Given the description of an element on the screen output the (x, y) to click on. 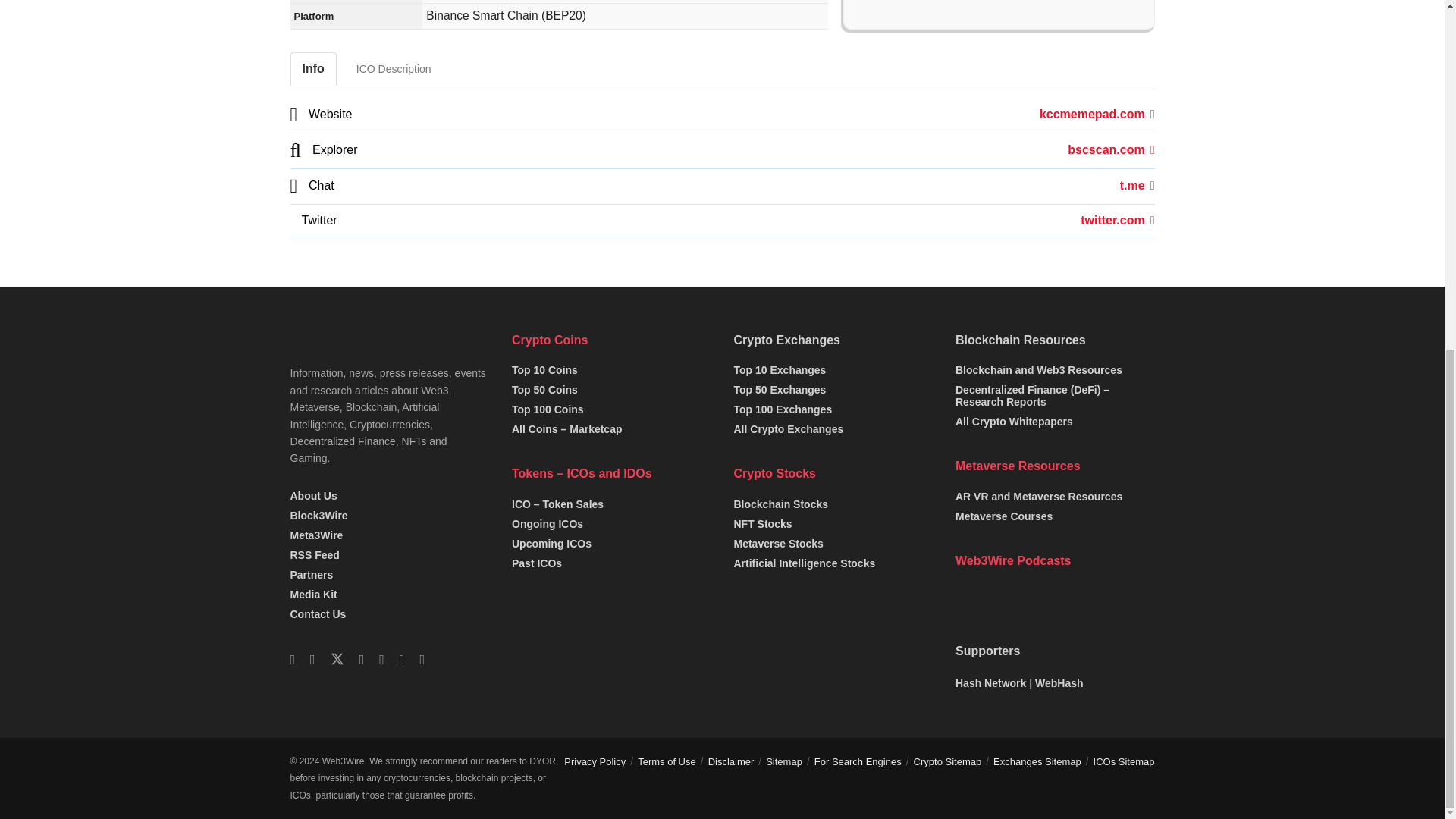
Chat (1136, 185)
Website (1096, 113)
Twitter (1117, 219)
Explorer (1110, 149)
